Given the description of an element on the screen output the (x, y) to click on. 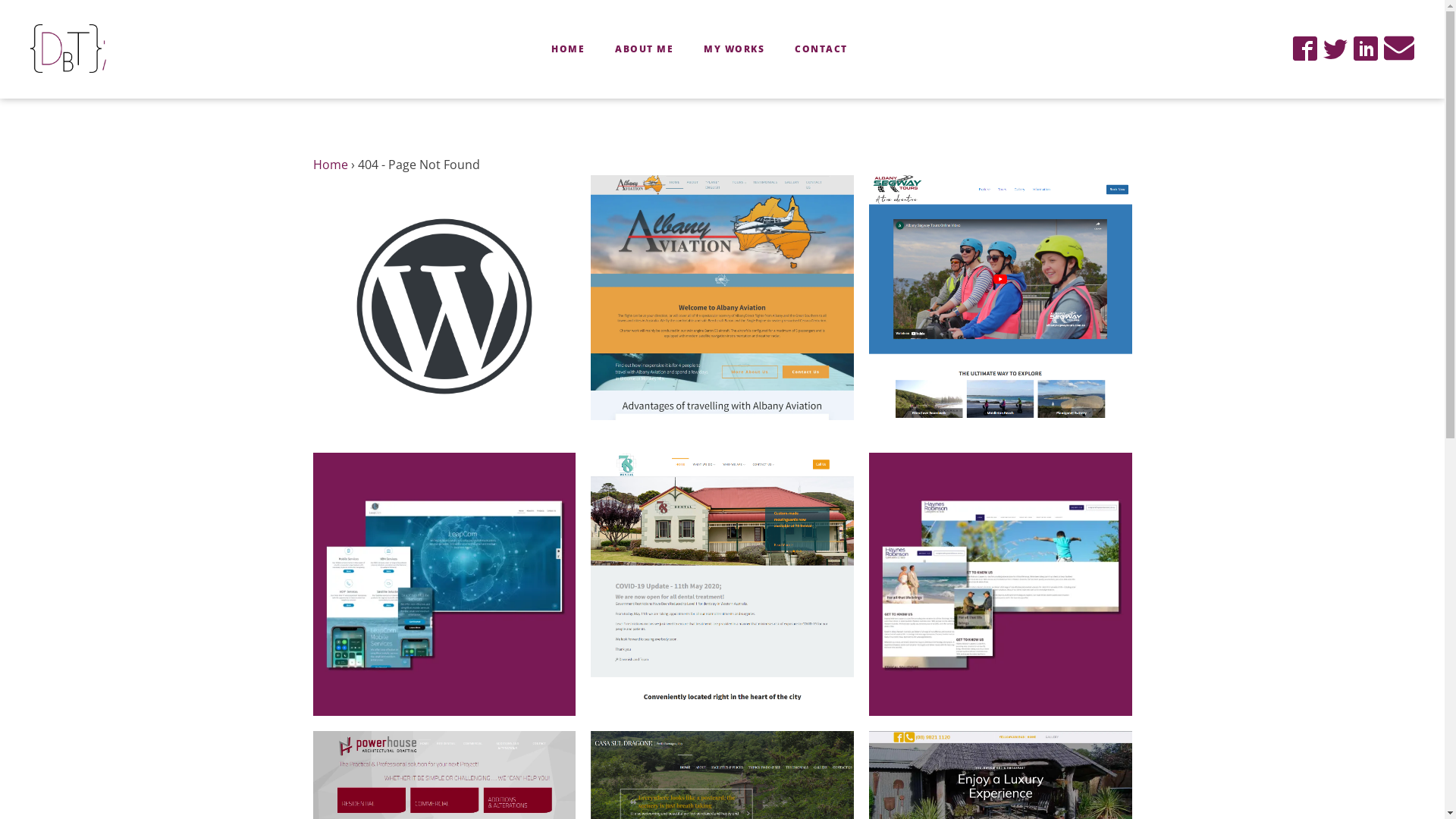
ABOUT ME Element type: text (643, 48)
HOME Element type: text (567, 48)
Home Element type: text (329, 164)
MY WORKS Element type: text (733, 48)
CONTACT Element type: text (820, 48)
